Given the description of an element on the screen output the (x, y) to click on. 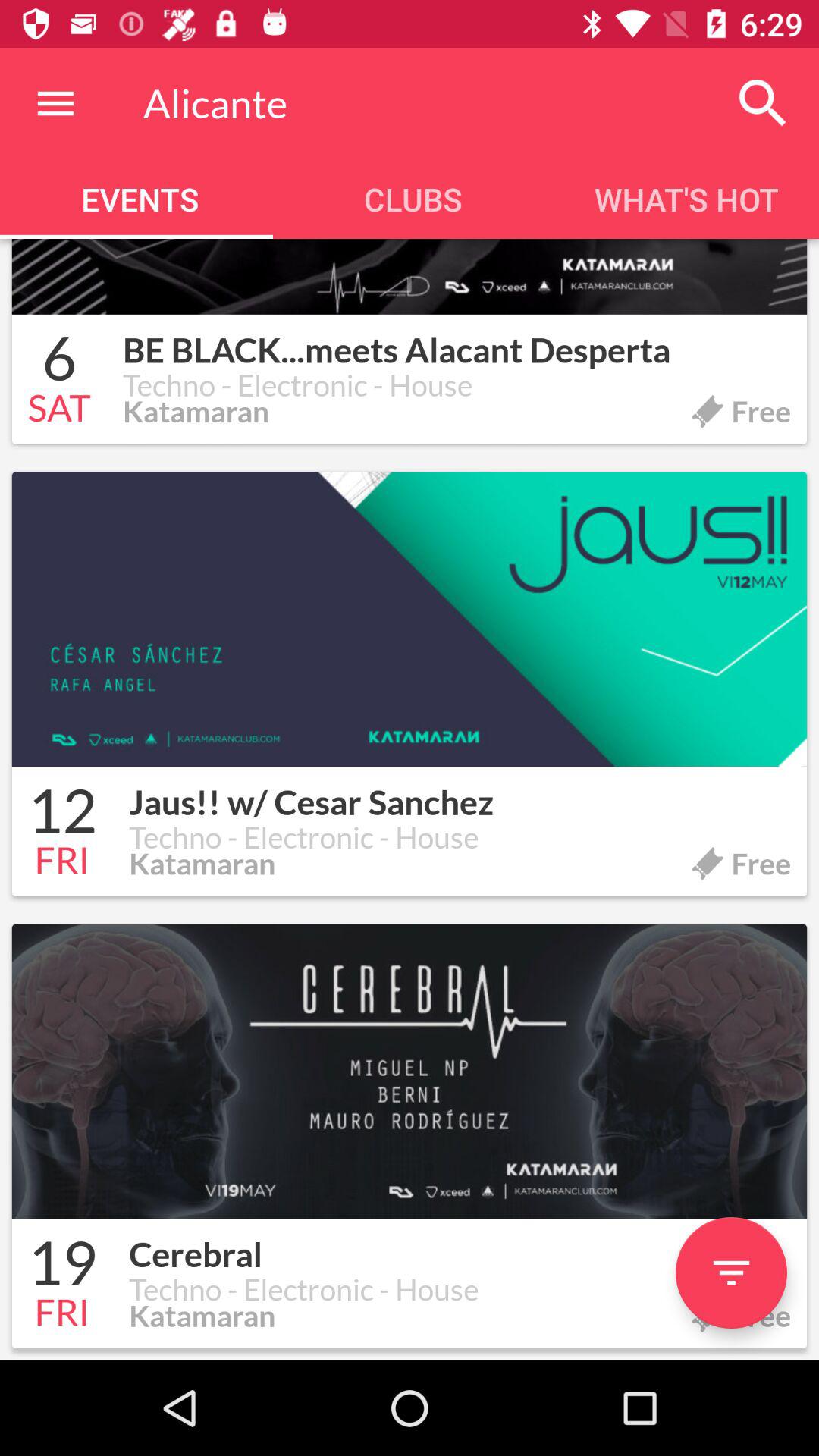
launch item next to the 19 icon (460, 1245)
